Given the description of an element on the screen output the (x, y) to click on. 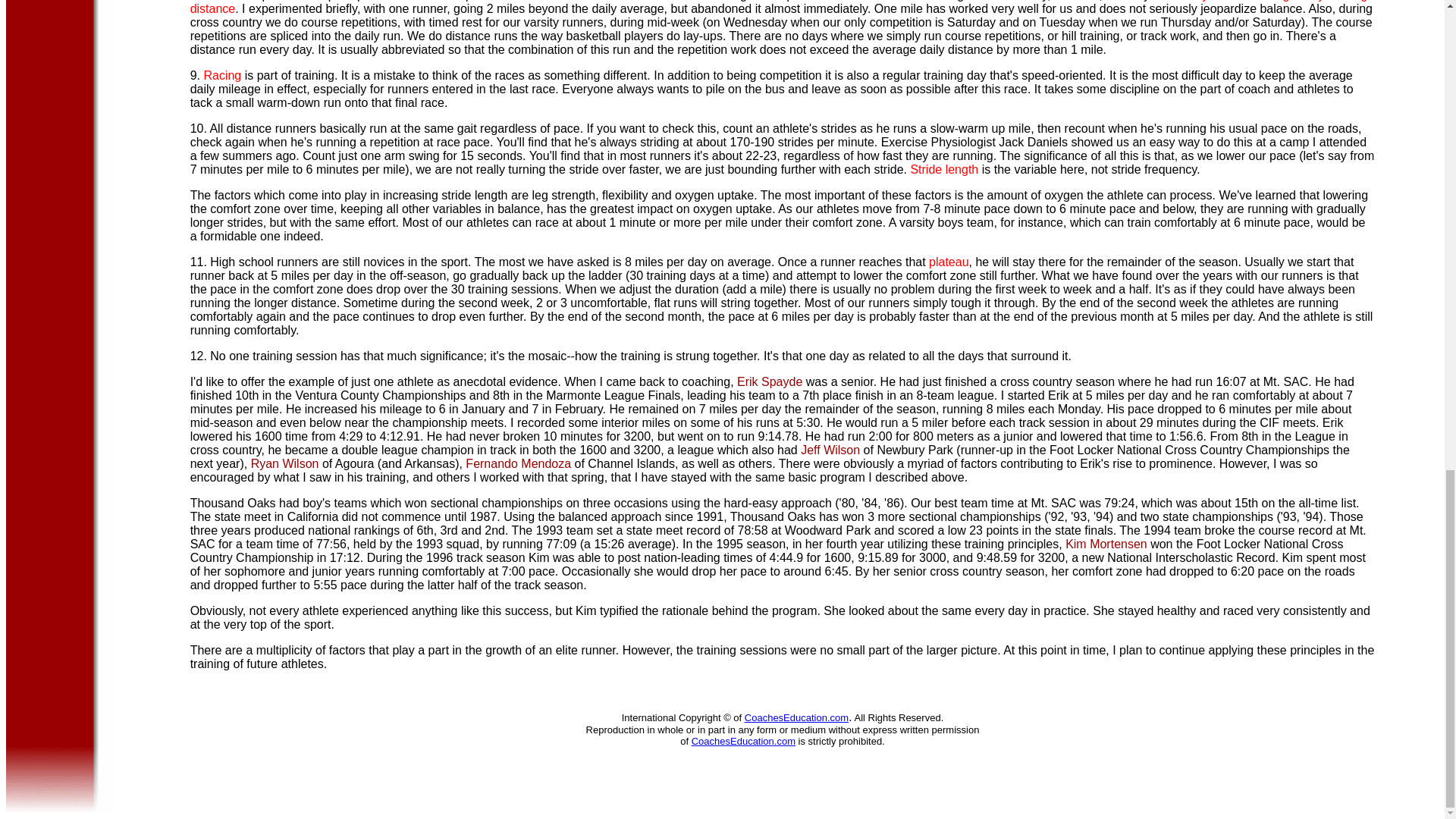
CoachesEducation.com (796, 716)
CoachesEducation.com (742, 739)
